Given the description of an element on the screen output the (x, y) to click on. 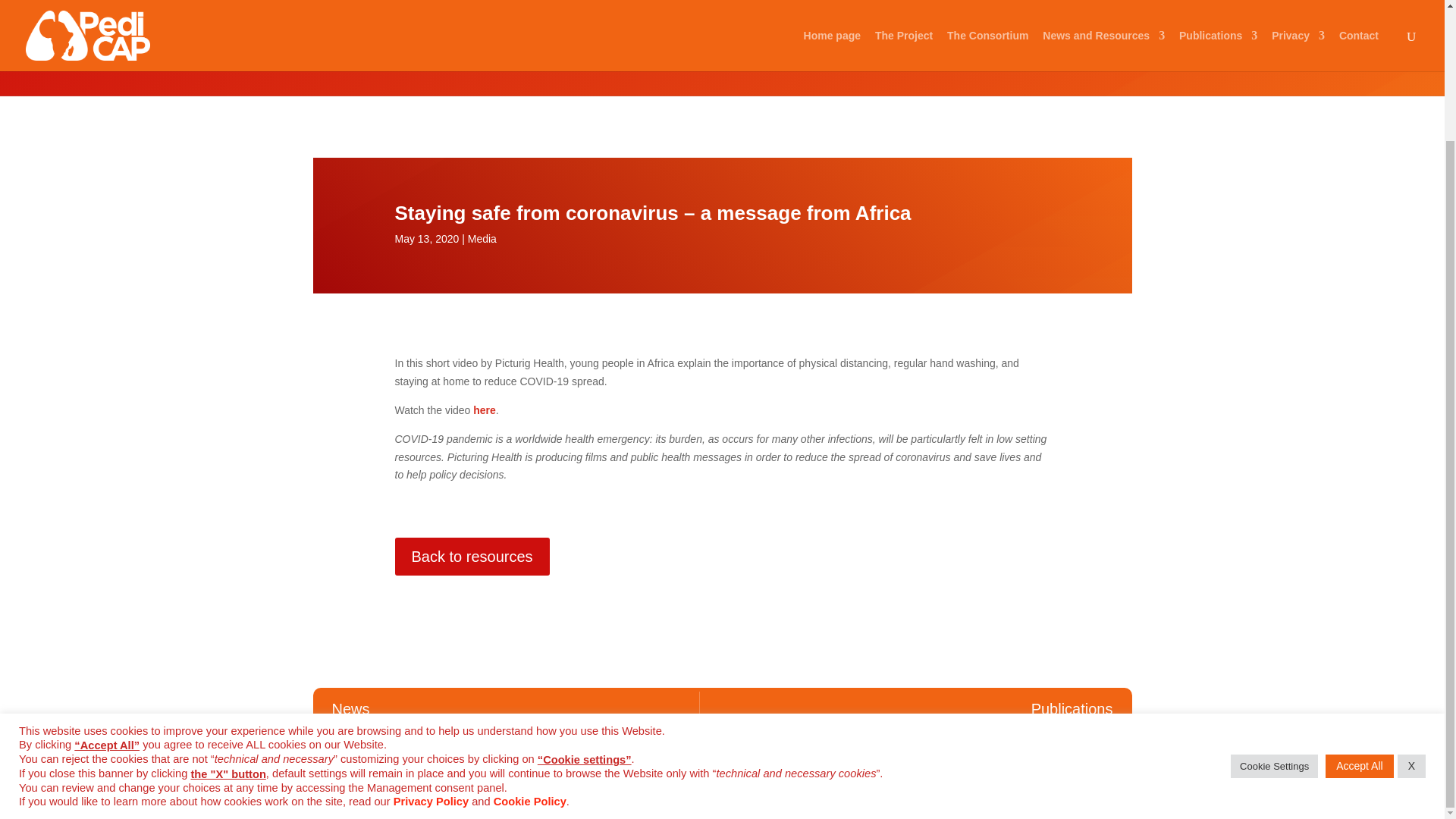
News (351, 708)
here (484, 410)
Cookie Policy (529, 642)
Back to resources (471, 556)
Media (481, 238)
Cookie Settings (1273, 607)
Accept All (1358, 607)
Media (329, 41)
Publications (1072, 708)
X (1411, 607)
Privacy Policy (430, 642)
